Given the description of an element on the screen output the (x, y) to click on. 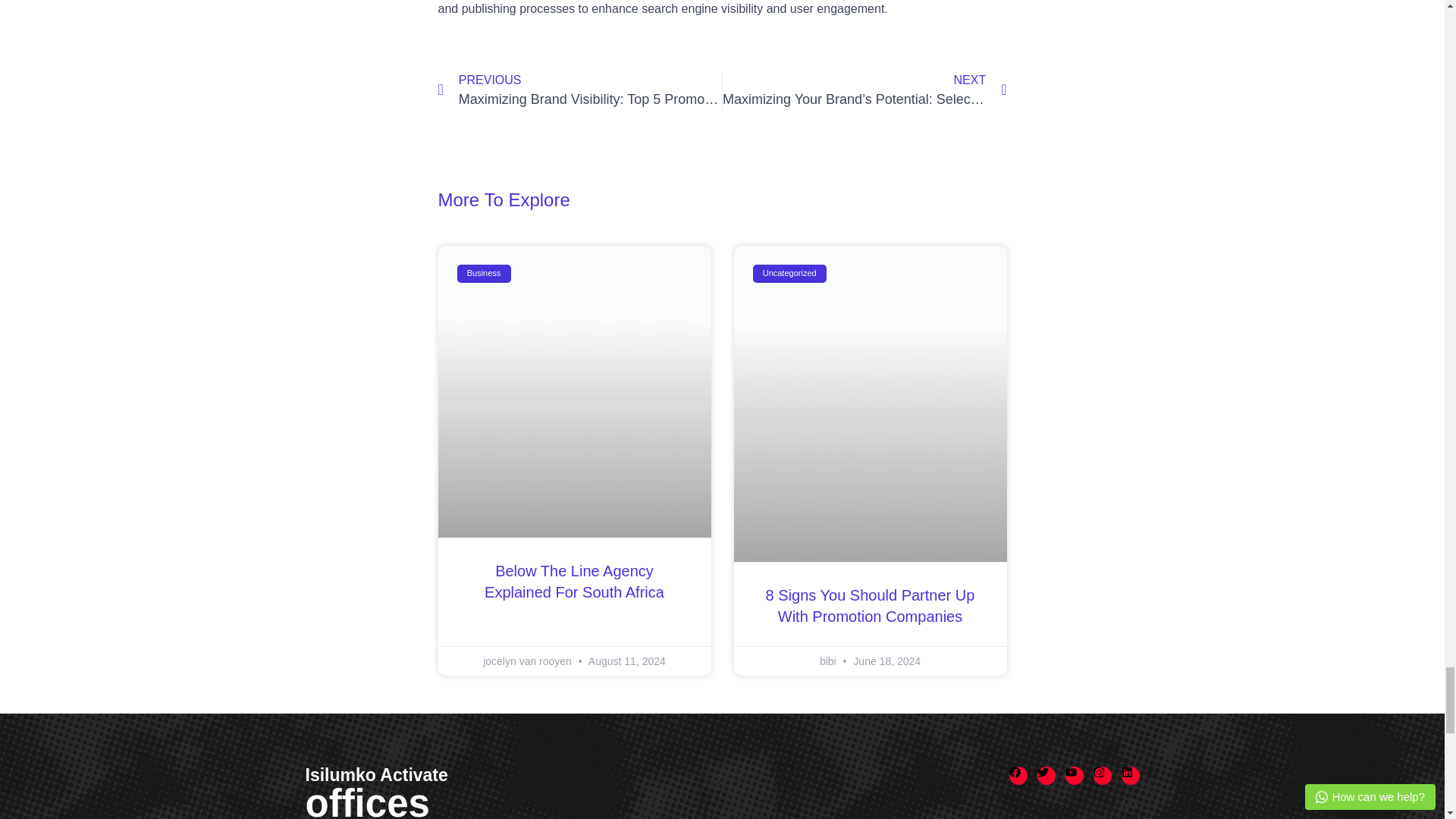
Below The Line Agency Explained For South Africa (573, 581)
8 Signs You Should Partner Up With Promotion Companies (870, 605)
